Given the description of an element on the screen output the (x, y) to click on. 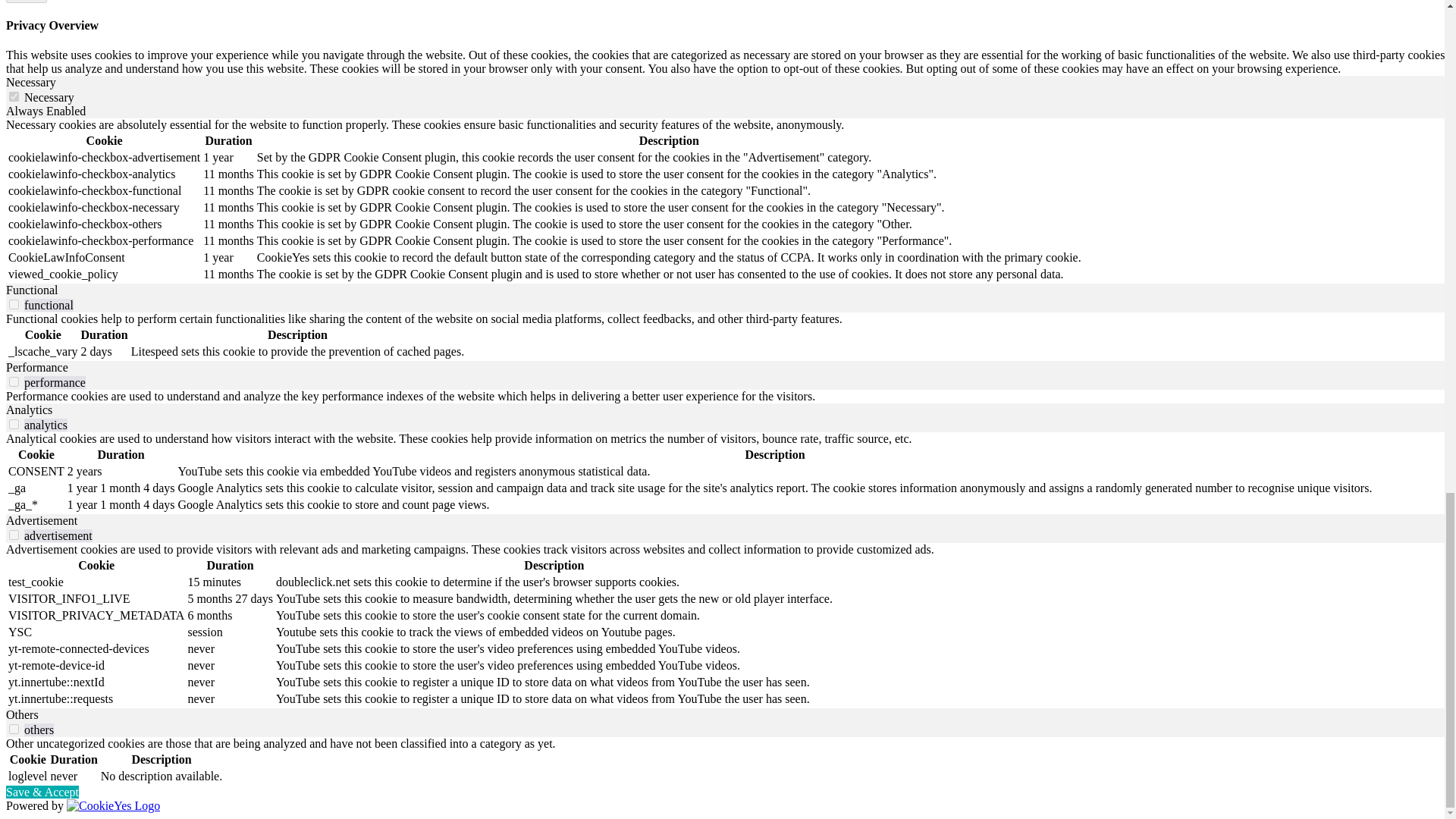
on (13, 381)
on (13, 304)
on (13, 534)
on (13, 424)
on (13, 728)
on (13, 96)
